Given the description of an element on the screen output the (x, y) to click on. 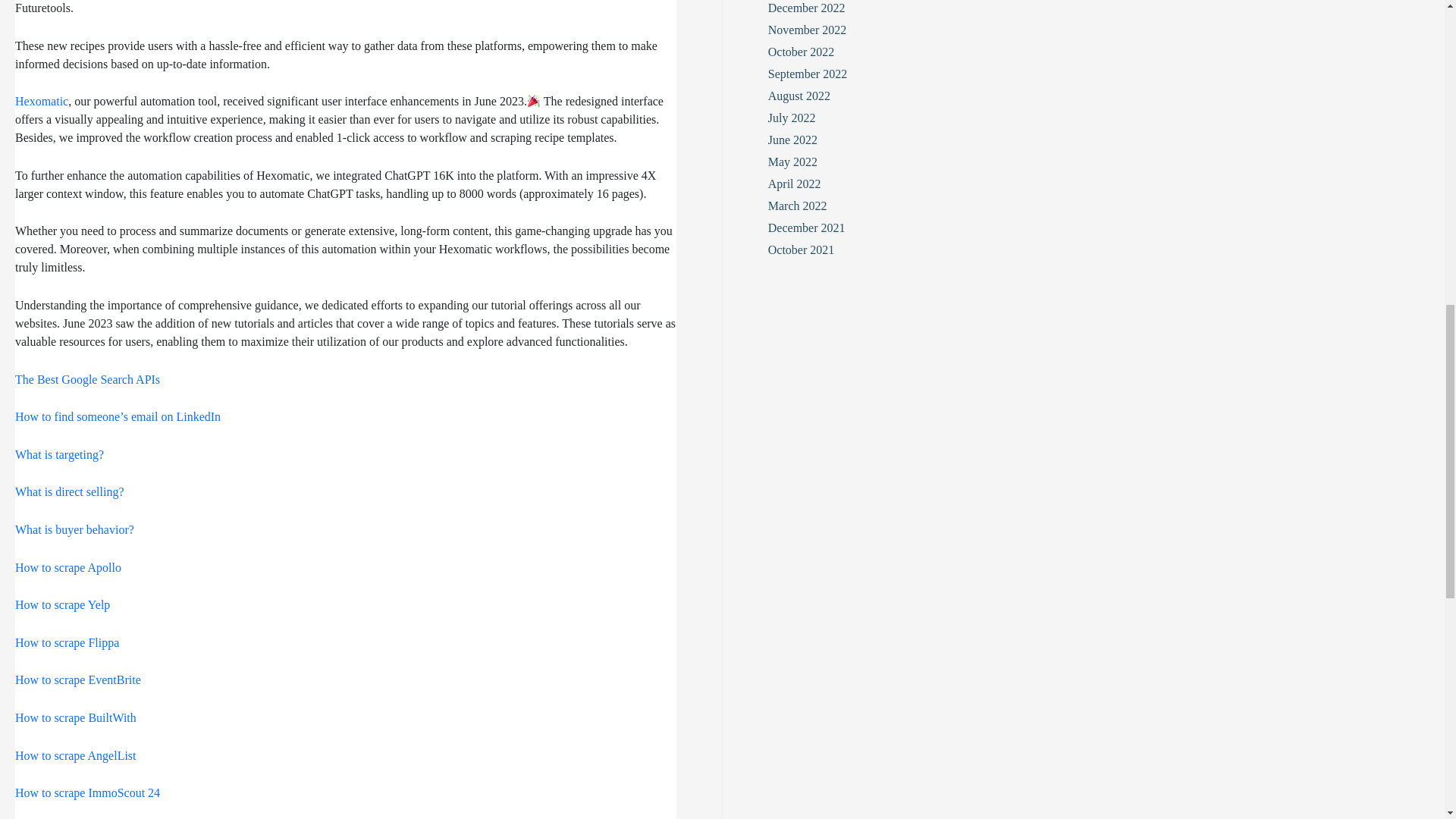
How to scrape Flippa (66, 642)
The Best Google Search APIs (87, 379)
What is buyer behavior? (73, 529)
How to scrape BuiltWith (75, 717)
How to scrape Yelp (62, 604)
How to scrape ImmoScout 24 (87, 792)
What is direct selling? (68, 491)
How to scrape Apollo (67, 567)
tic (62, 101)
How to scrape EventBrite (77, 679)
